Given the description of an element on the screen output the (x, y) to click on. 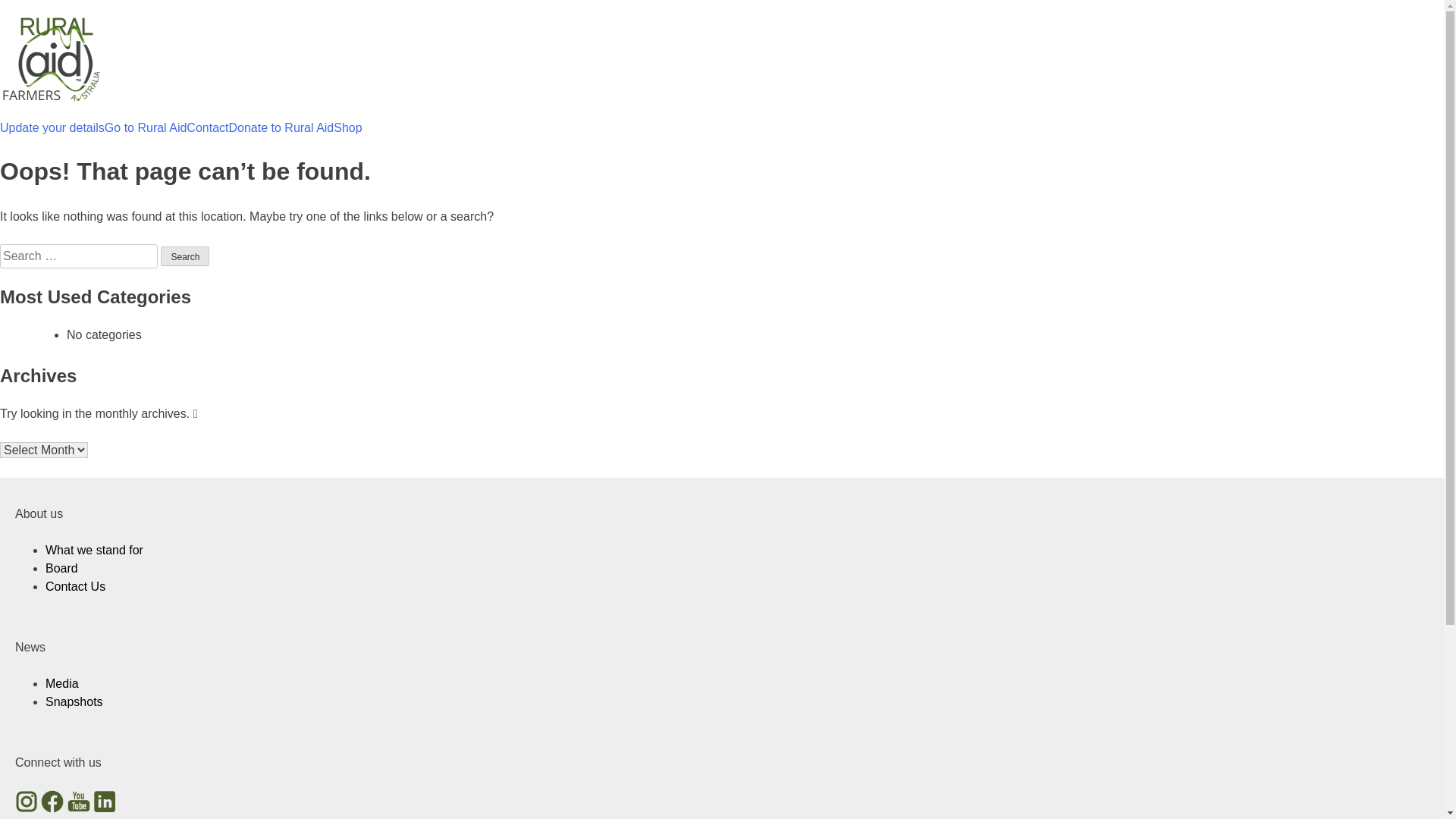
Contact Element type: text (207, 128)
Contact Us Element type: text (75, 586)
Media Element type: text (61, 683)
Search Element type: text (184, 256)
Donate to Rural Aid Element type: text (281, 128)
Rural Aid Financial Assistance Element type: text (81, 139)
What we stand for Element type: text (94, 549)
Go to Rural Aid Element type: text (145, 128)
Shop Element type: text (347, 128)
Board Element type: text (61, 567)
Update your details Element type: text (52, 128)
Snapshots Element type: text (74, 701)
